Given the description of an element on the screen output the (x, y) to click on. 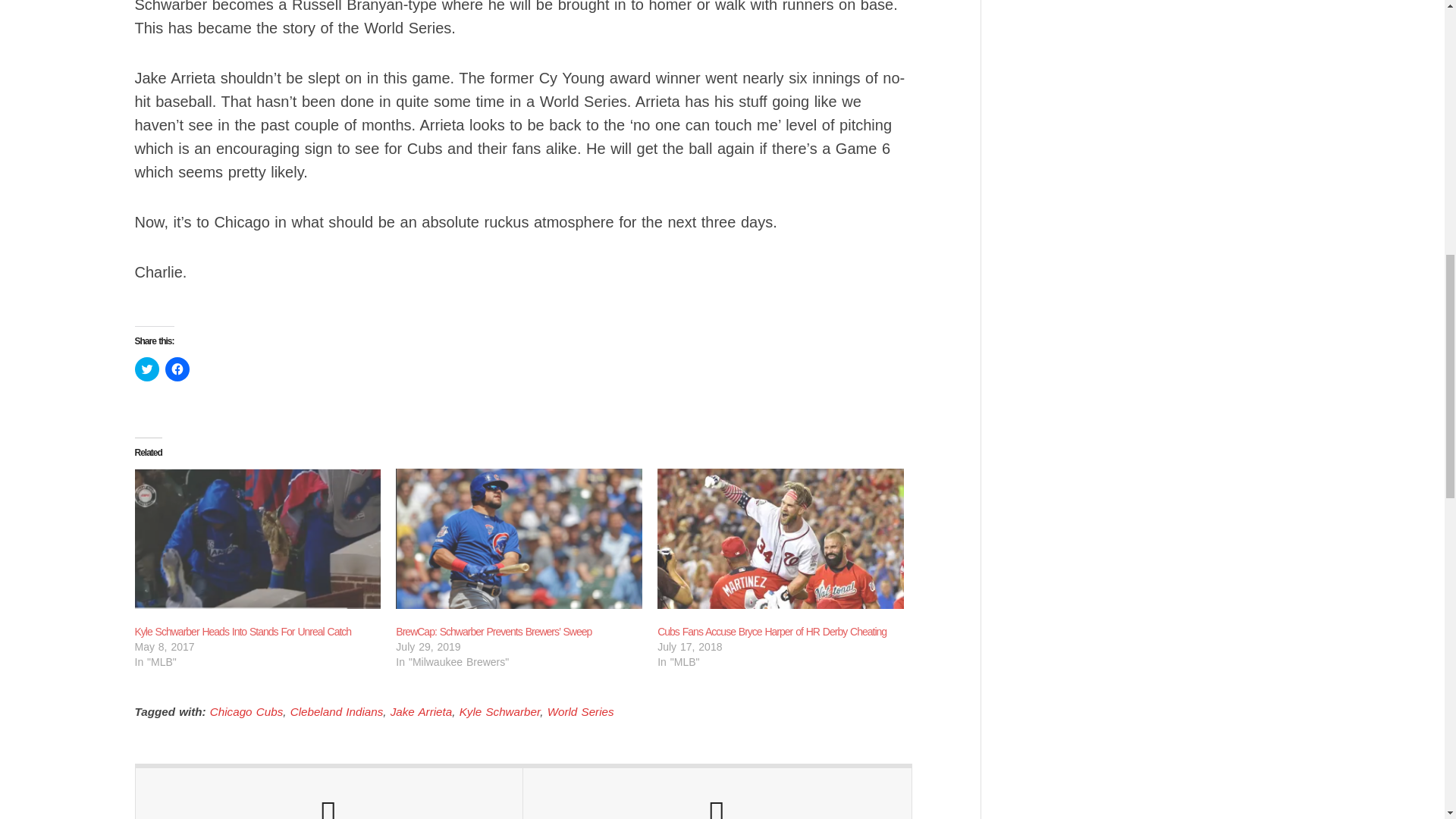
Cubs Fans Accuse Bryce Harper of HR Derby Cheating (781, 538)
Click to share on Twitter (146, 369)
Click to share on Facebook (177, 369)
Chicago Cubs (245, 711)
Clebeland Indians (336, 711)
Kyle Schwarber Heads Into Stands For Unreal Catch (258, 538)
Kyle Schwarber Heads Into Stands For Unreal Catch (243, 631)
Cubs Fans Accuse Bryce Harper of HR Derby Cheating (772, 631)
Jake Arrieta (420, 711)
Kyle Schwarber (500, 711)
